Given the description of an element on the screen output the (x, y) to click on. 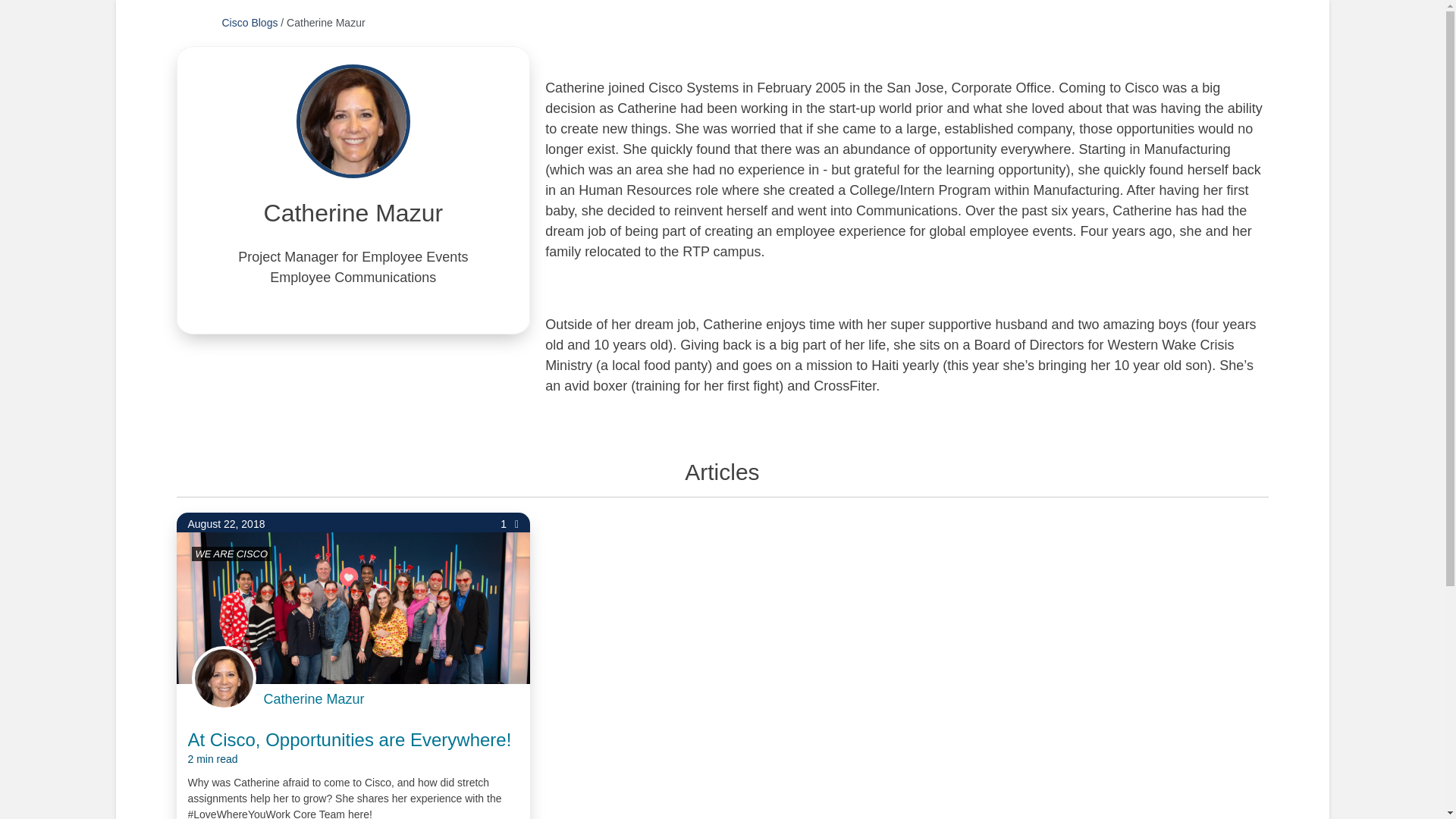
Catherine Mazur (314, 699)
Cisco Blogs (249, 22)
WE ARE CISCO (231, 553)
At Cisco, Opportunities are Everywhere! (349, 747)
Posts by Catherine Mazur (314, 699)
1 (509, 524)
